Given the description of an element on the screen output the (x, y) to click on. 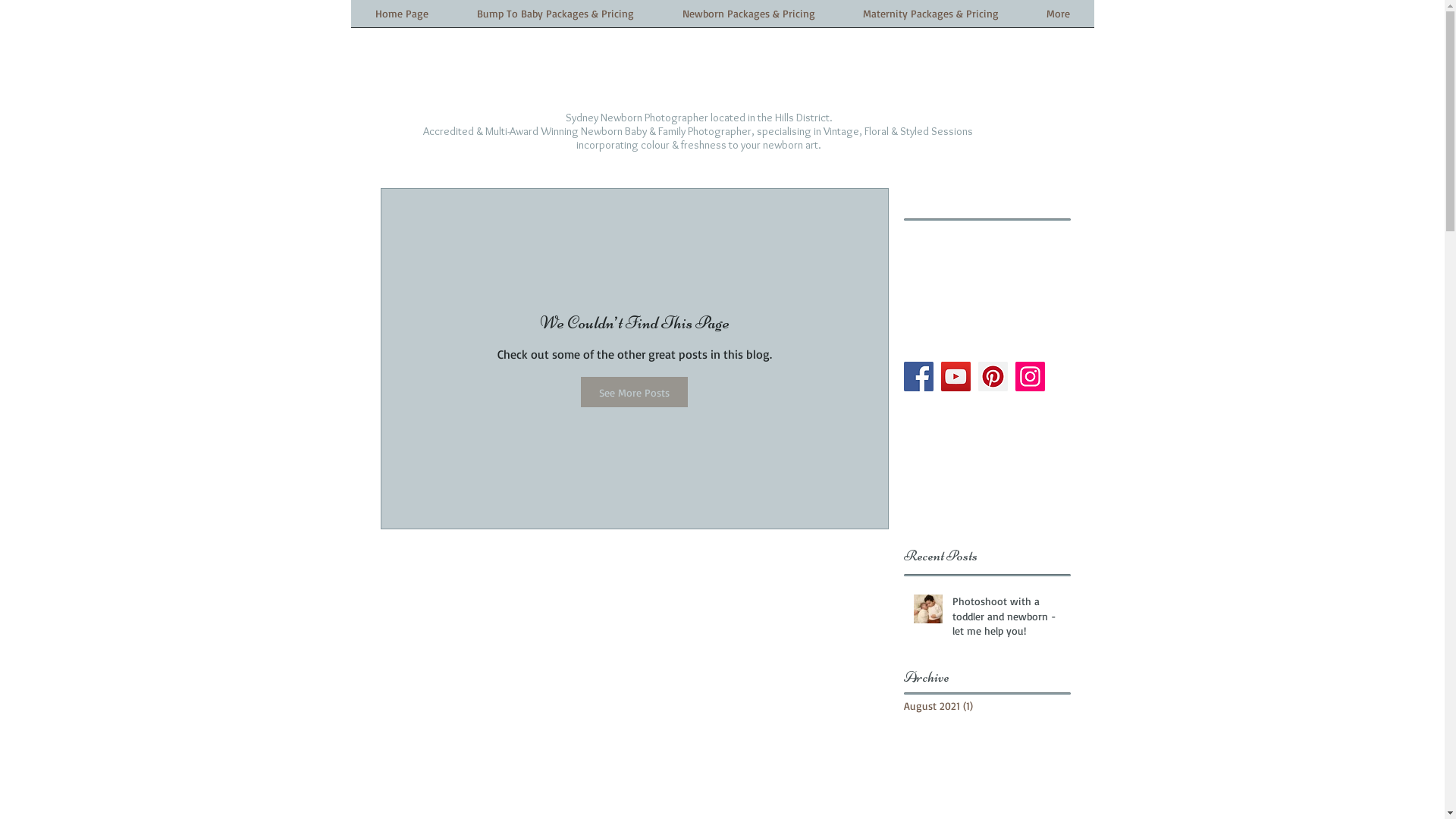
Photoshoot with a toddler and newborn - let me help you! Element type: text (1006, 618)
Embedded Content Element type: hover (463, 92)
August 2021 (1) Element type: text (983, 705)
See More Posts Element type: text (633, 391)
